Given the description of an element on the screen output the (x, y) to click on. 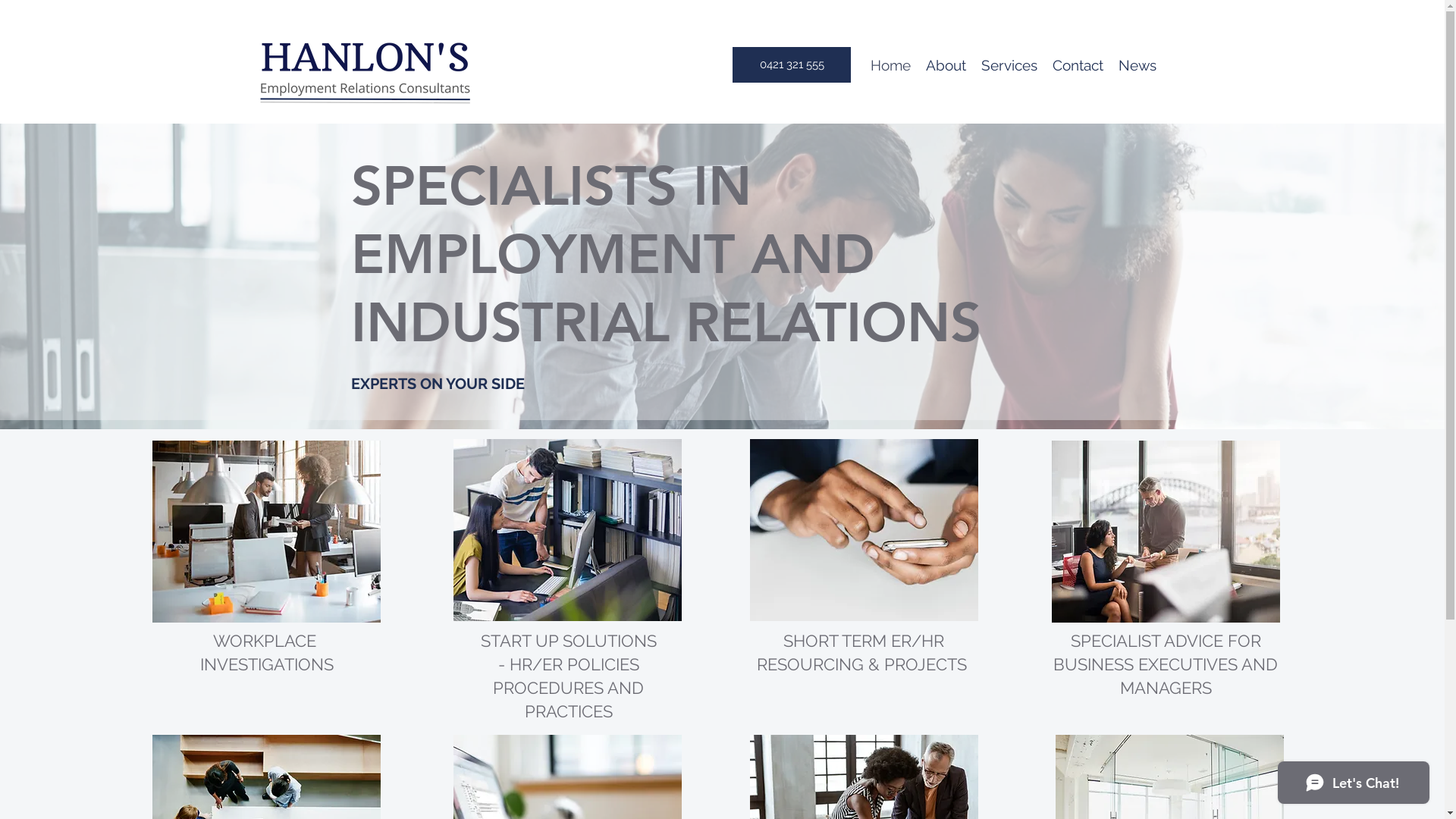
WORKPLACE 
INVESTIGATIONS Element type: text (266, 652)
SPECIALIST ADVICE FOR BUSINESS EXECUTIVES AND MANAGERS Element type: text (1165, 663)
SHORT TERM ER/HR RESOURCING & PROJECTS  Element type: text (863, 652)
News Element type: text (1137, 65)
0421 321 555 Element type: text (791, 64)
START UP SOLUTIONS
- HR/ER POLICIES PROCEDURES AND PRACTICES Element type: text (568, 675)
Contact Element type: text (1077, 65)
Home Element type: text (890, 65)
About Element type: text (945, 65)
Services Element type: text (1008, 65)
